Given the description of an element on the screen output the (x, y) to click on. 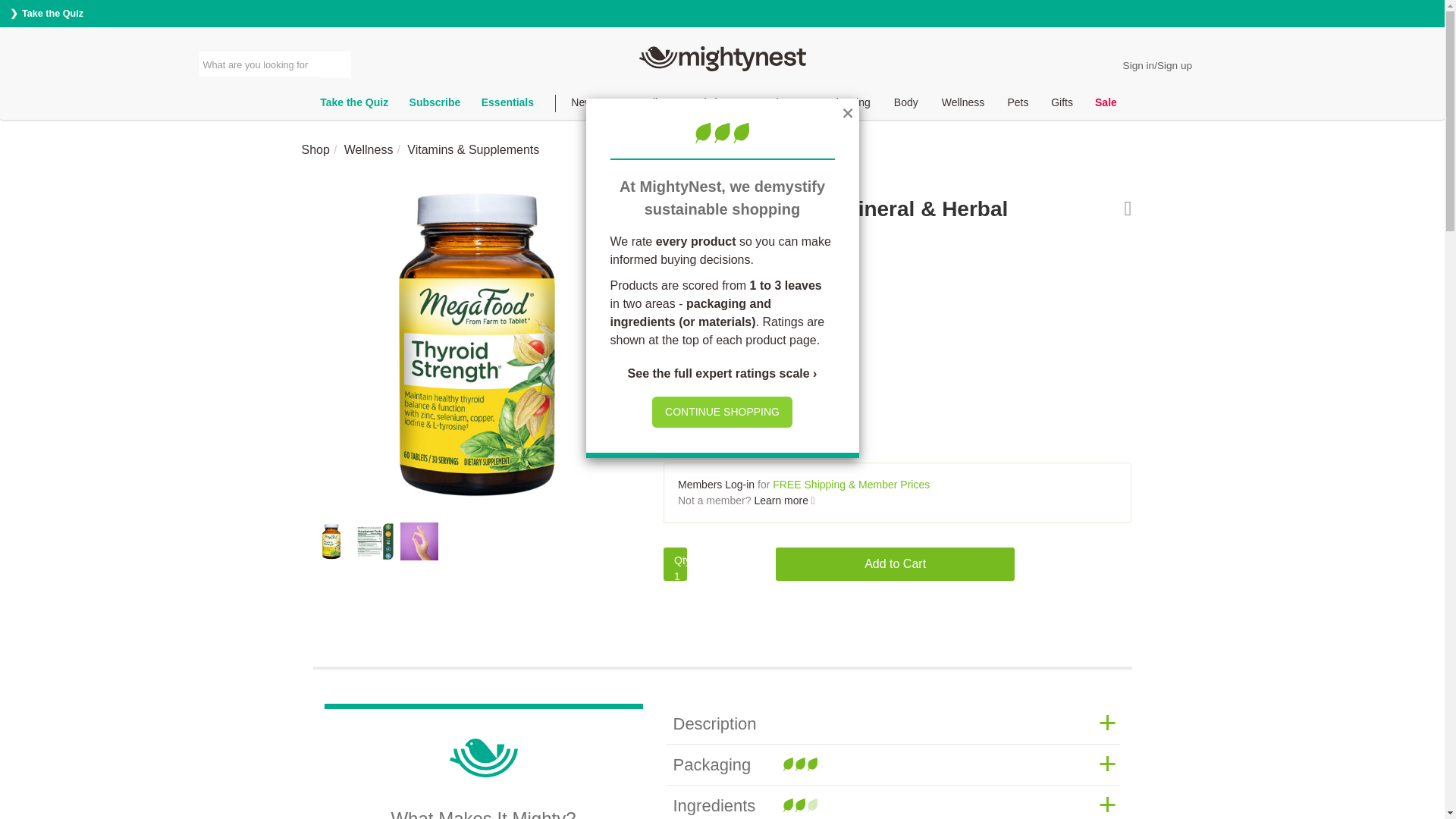
Kitchen (714, 105)
Best Sellers (644, 105)
Essentials (507, 105)
Take the Quiz (46, 13)
Wellness (962, 105)
New (581, 105)
Green Quiz (353, 105)
Subscribe (435, 105)
New (581, 105)
Gifts (1062, 105)
Best Sellers (644, 105)
Subscribe (435, 105)
Essentials (507, 105)
Kitchen (714, 105)
On the Go (780, 105)
